Given the description of an element on the screen output the (x, y) to click on. 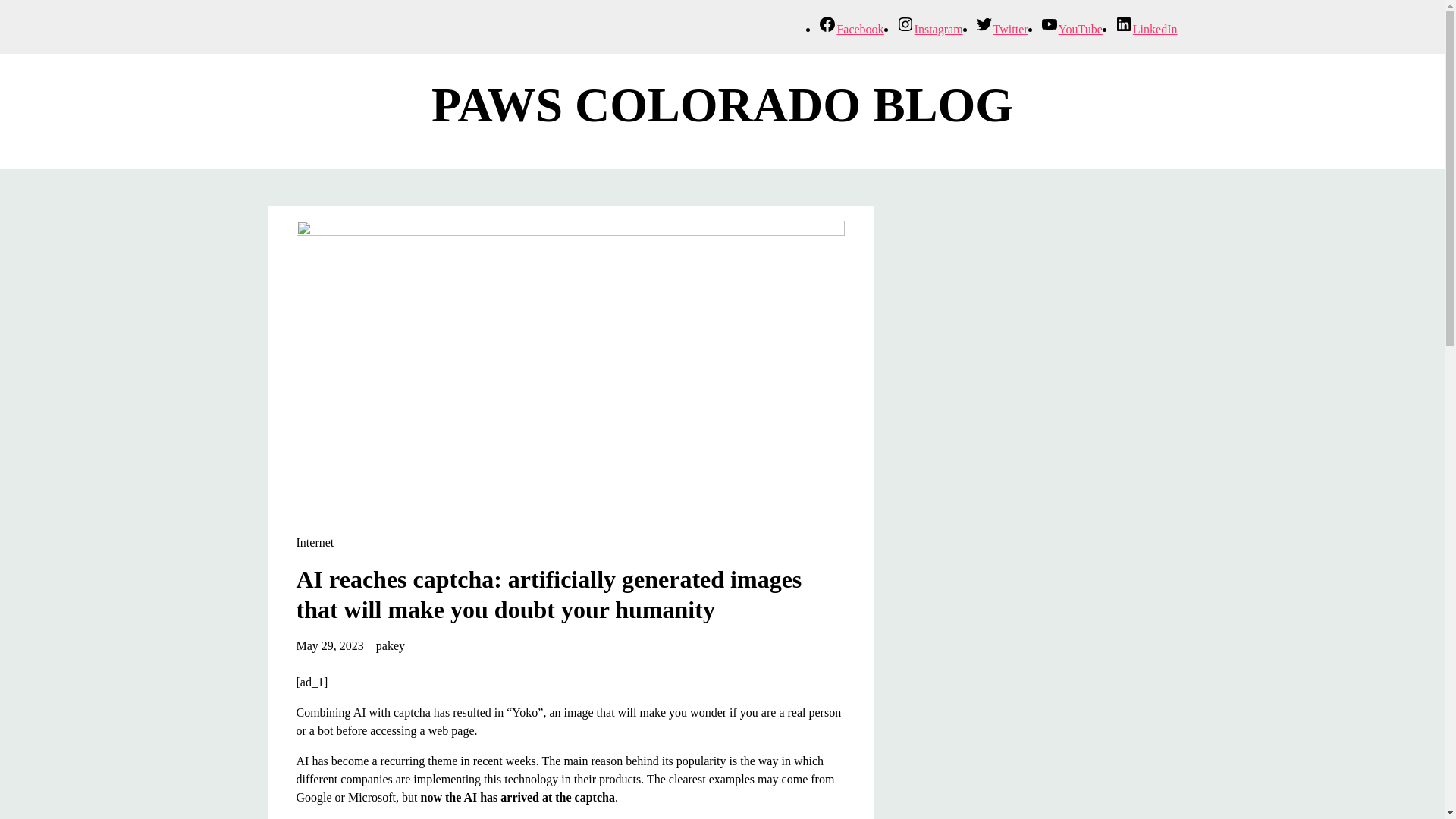
Twitter (1001, 29)
PAWS COLORADO BLOG (721, 104)
YouTube (1071, 29)
Instagram (929, 29)
LinkedIn (1146, 29)
Facebook (850, 29)
Internet (314, 542)
